Given the description of an element on the screen output the (x, y) to click on. 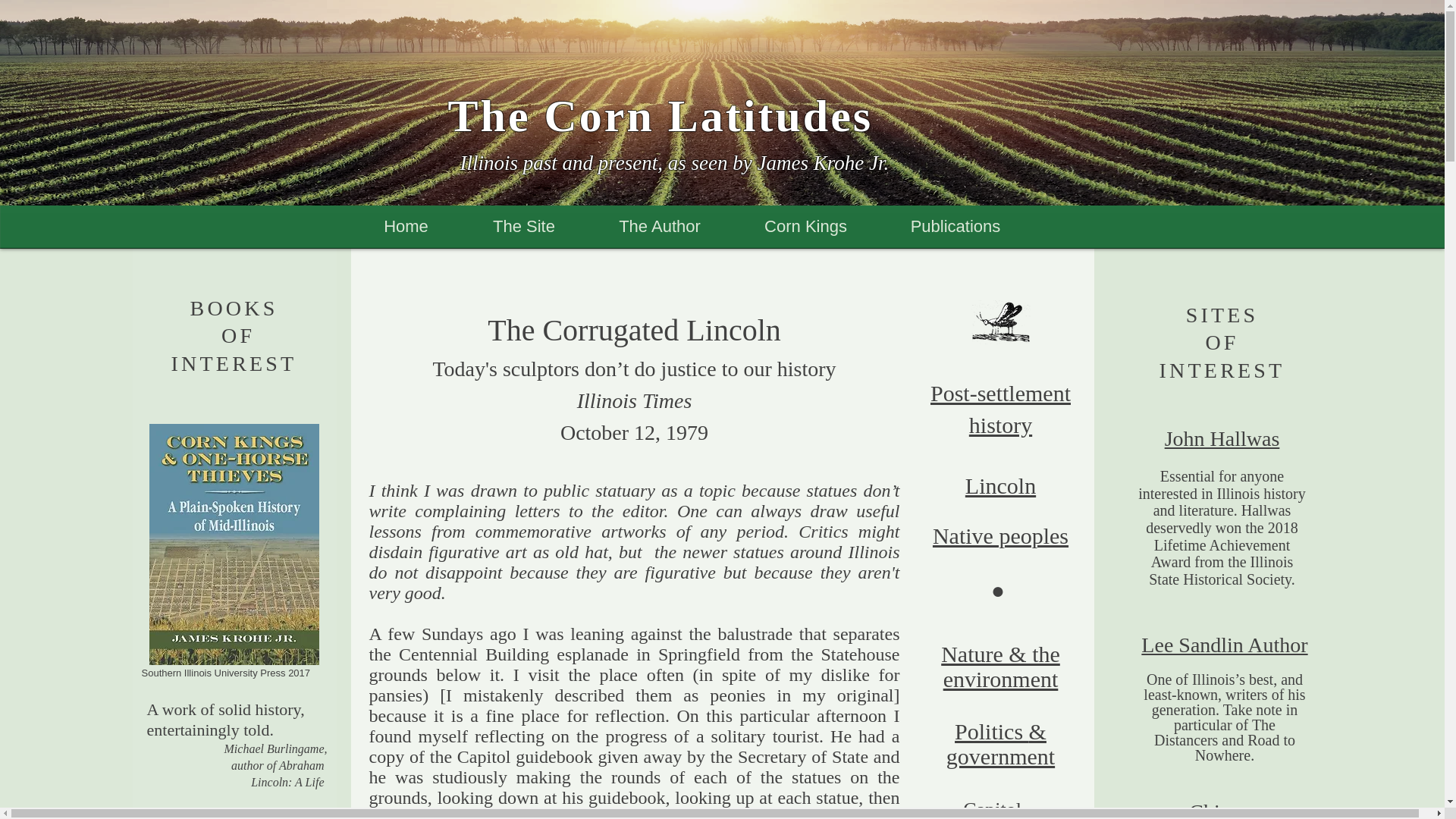
Lee Sandlin Author (1224, 644)
The Author (659, 226)
The Site (523, 226)
Chicago Architecture Center (1225, 809)
Native peoples (1000, 535)
John Hallwas (1221, 438)
Lincoln (1000, 485)
Home (405, 226)
Corn Kings (804, 226)
